Given the description of an element on the screen output the (x, y) to click on. 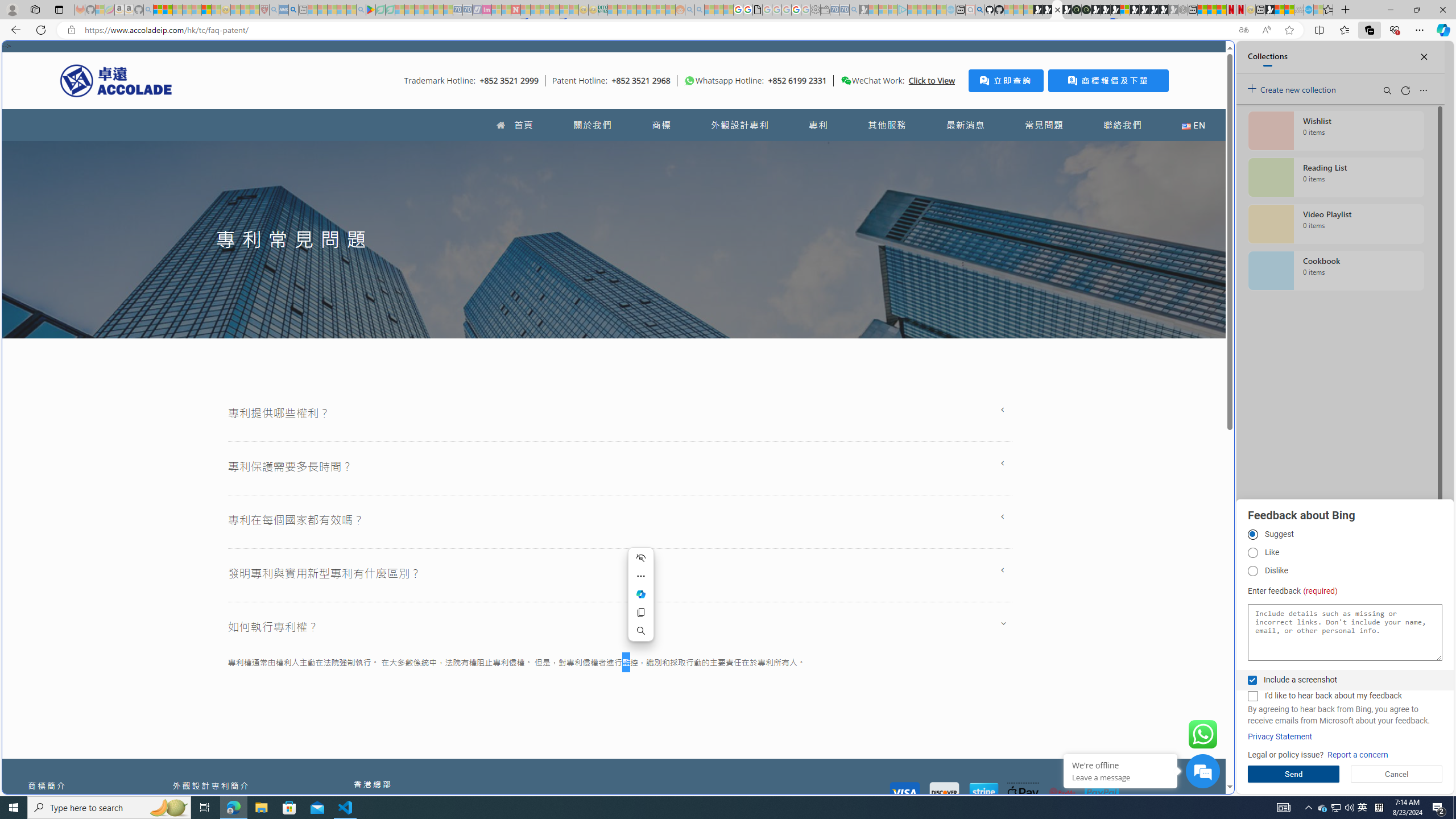
Home | Sky Blue Bikes - Sky Blue Bikes (1118, 242)
Play Zoo Boom in your browser | Games from Microsoft Start (1047, 9)
utah sues federal government - Search (922, 389)
